Given the description of an element on the screen output the (x, y) to click on. 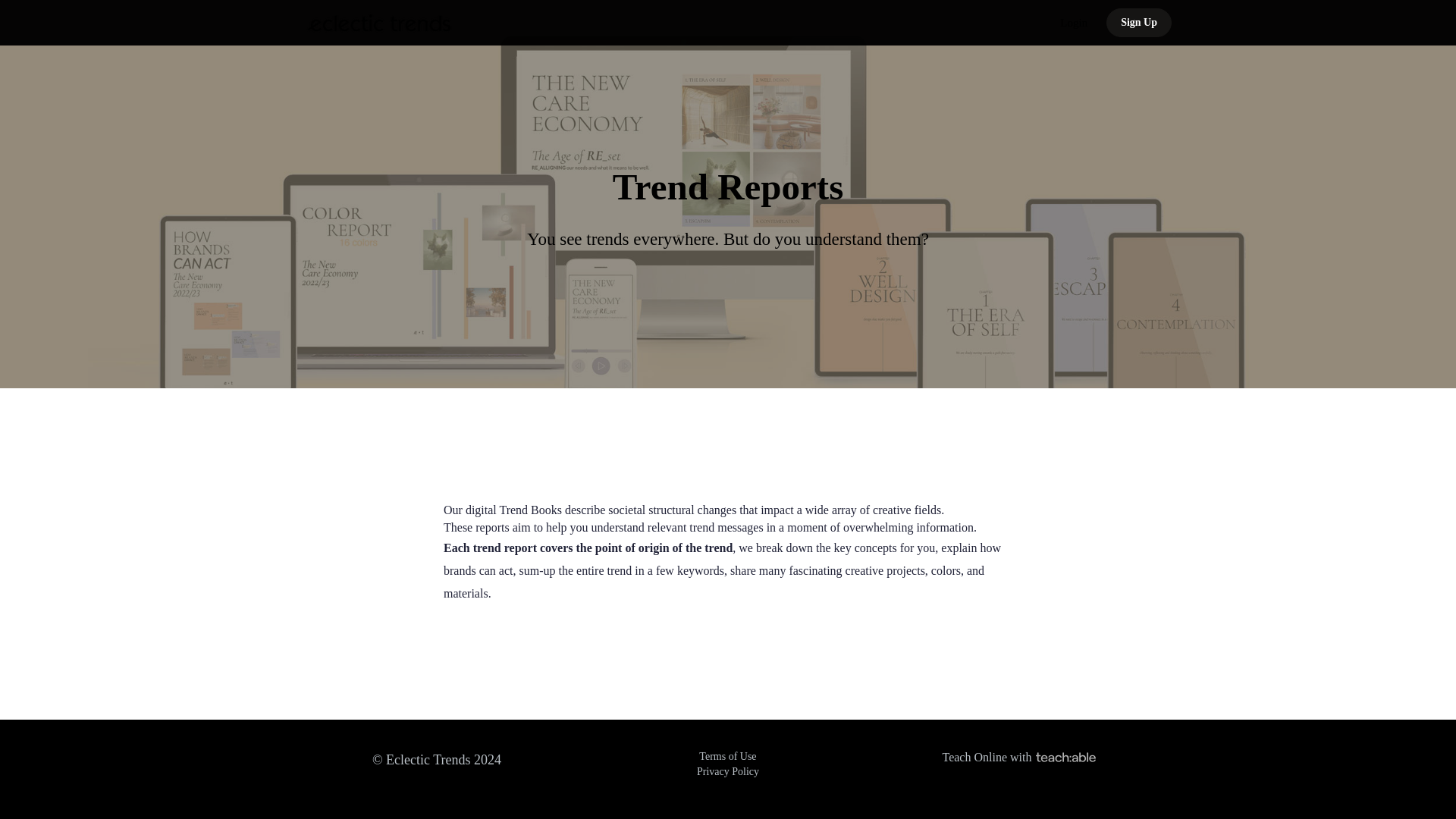
Login (1073, 22)
Sign Up (1139, 22)
